Given the description of an element on the screen output the (x, y) to click on. 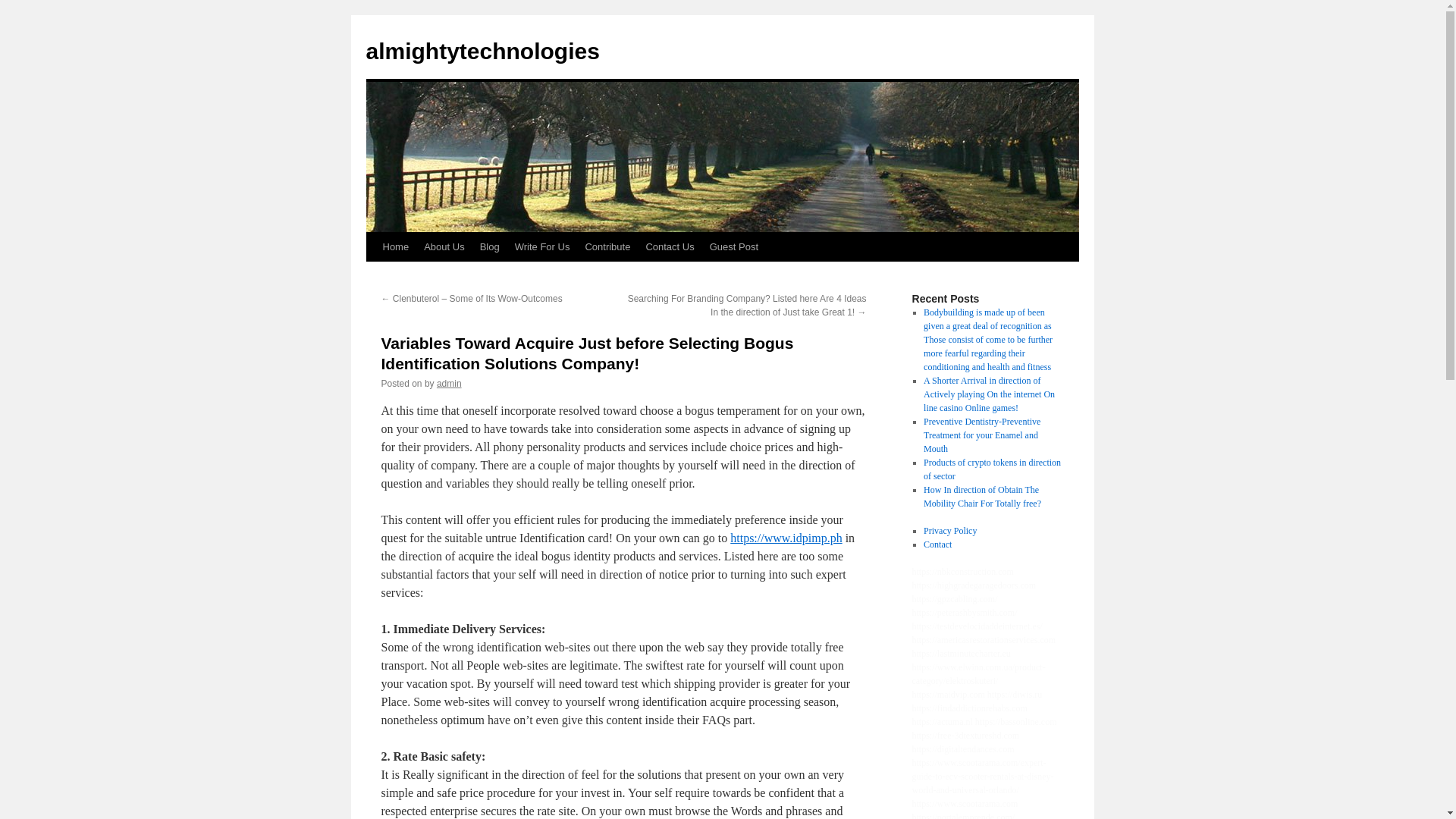
About Us (443, 246)
Write For Us (542, 246)
admin (448, 383)
Privacy Policy (949, 530)
Guest Post (733, 246)
Blog (488, 246)
almightytechnologies (481, 50)
